Given the description of an element on the screen output the (x, y) to click on. 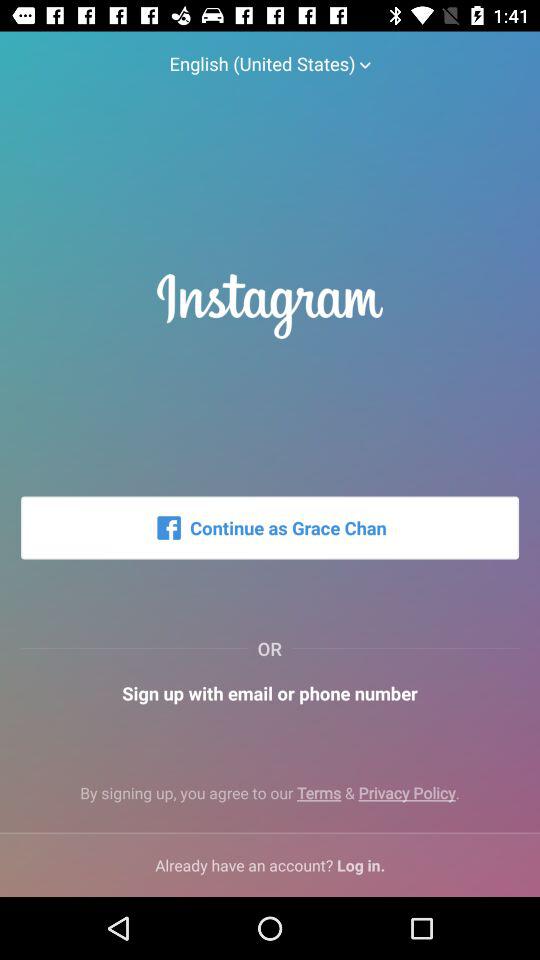
launch icon below the or icon (270, 692)
